Given the description of an element on the screen output the (x, y) to click on. 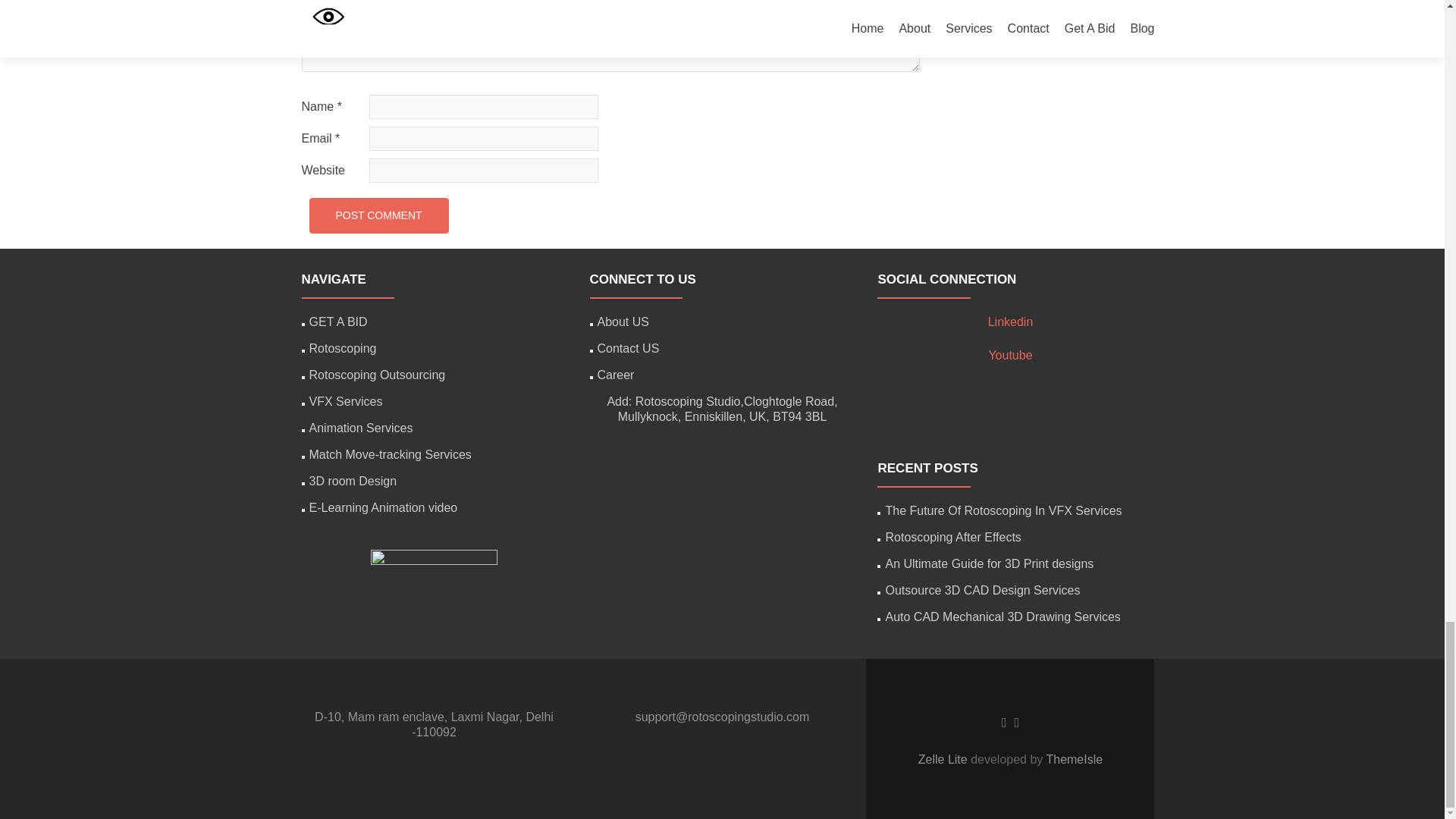
Post Comment (378, 215)
Post Comment (378, 215)
